Given the description of an element on the screen output the (x, y) to click on. 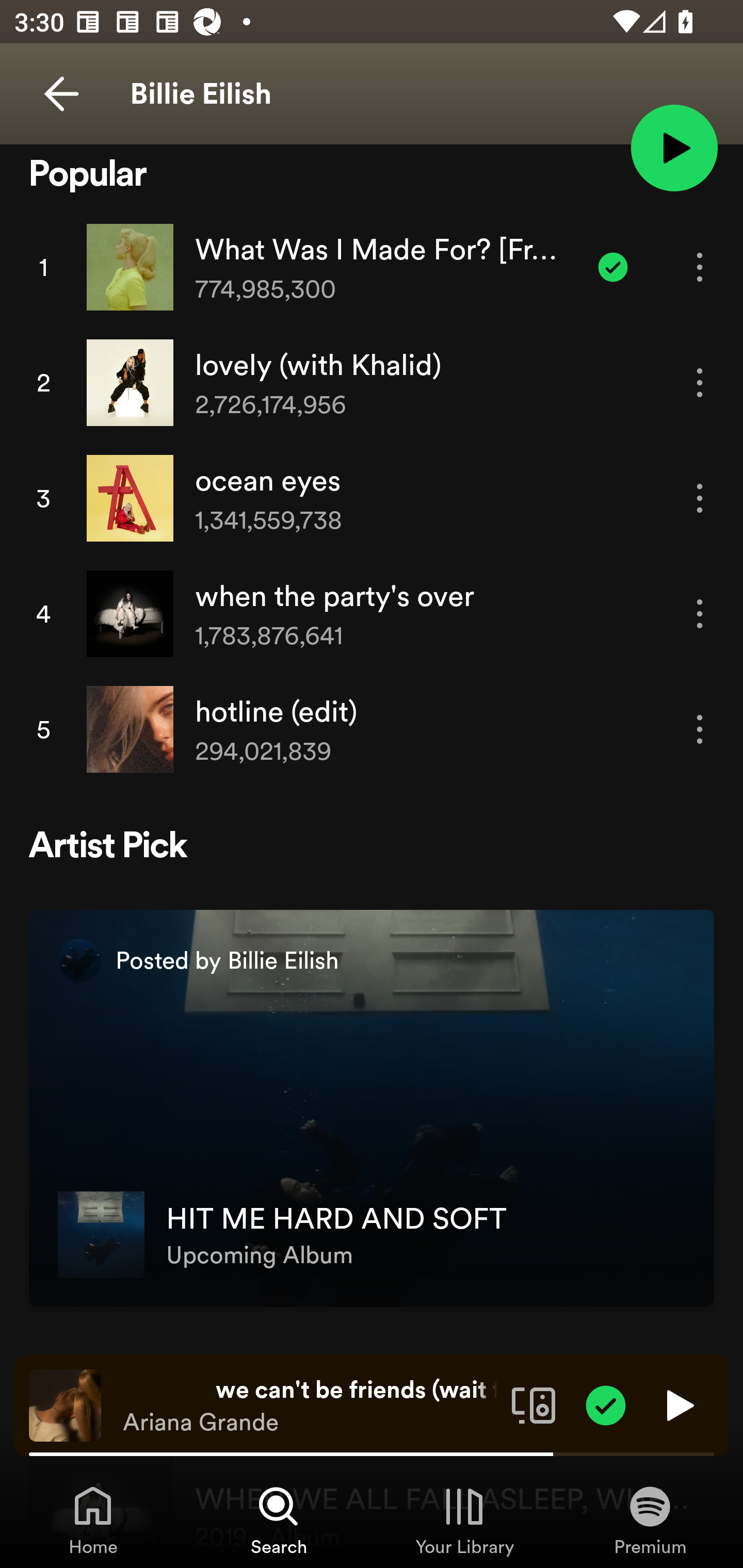
Swipe through previews of tracks from this artist. (57, 101)
Play artist (674, 147)
Item added (612, 267)
More options for song lovely (with Khalid) (699, 382)
More options for song ocean eyes (699, 497)
More options for song when the party's over (699, 613)
More options for song hotline (edit) (699, 729)
The cover art of the currently playing track (64, 1404)
Connect to a device. Opens the devices menu (533, 1404)
Item added (605, 1404)
Play (677, 1404)
